Given the description of an element on the screen output the (x, y) to click on. 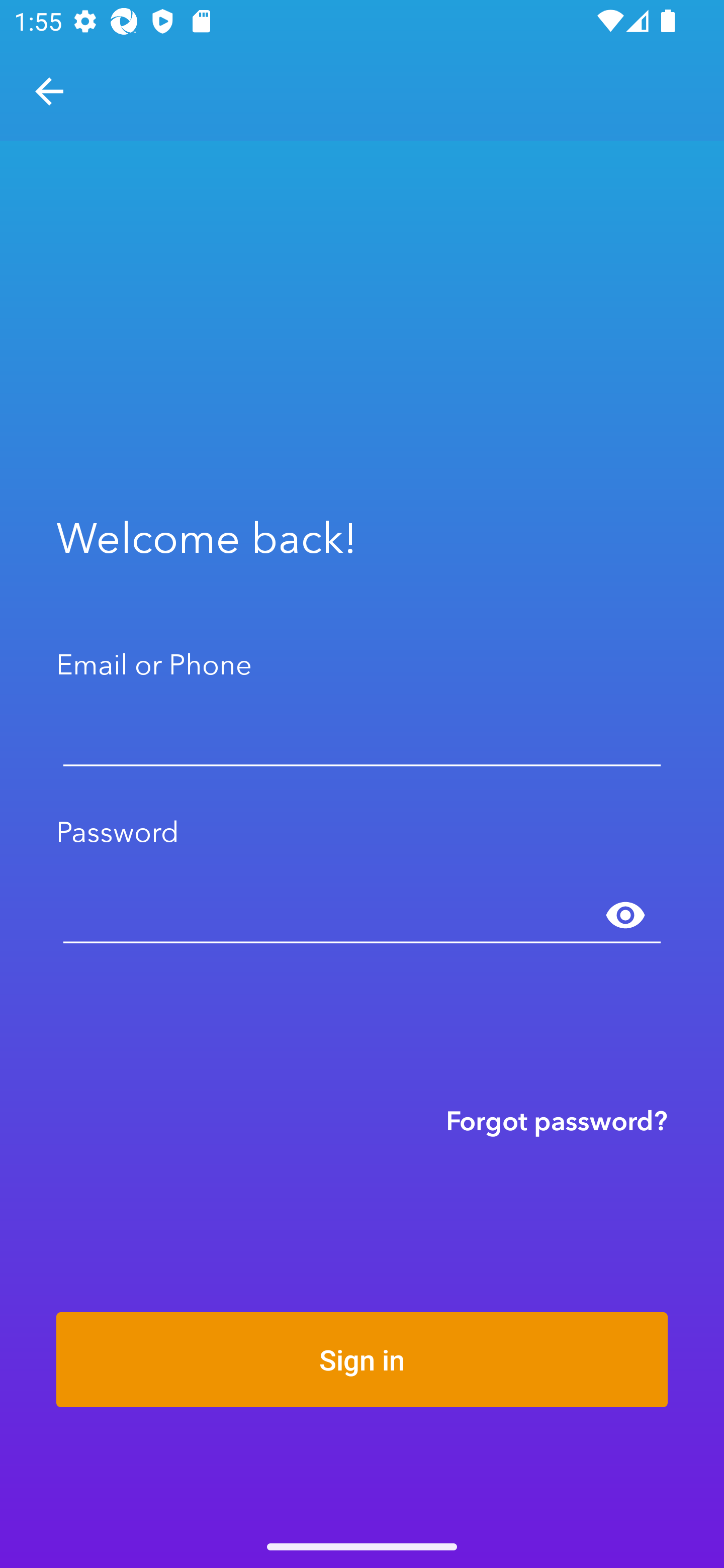
Navigate up (49, 91)
Show password (625, 915)
Forgot password? (556, 1119)
Sign in (361, 1359)
